Given the description of an element on the screen output the (x, y) to click on. 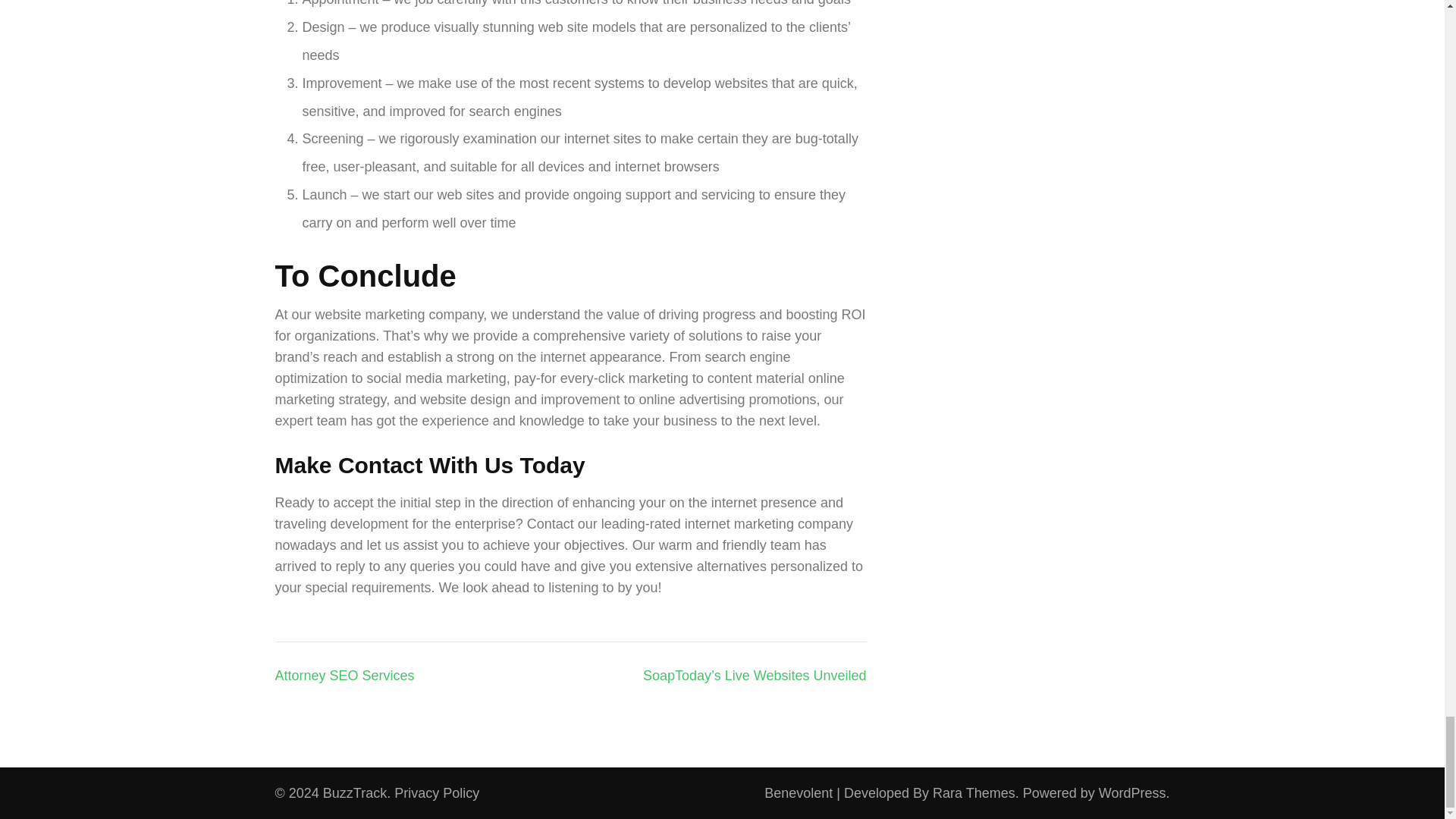
Attorney SEO Services (344, 675)
